Given the description of an element on the screen output the (x, y) to click on. 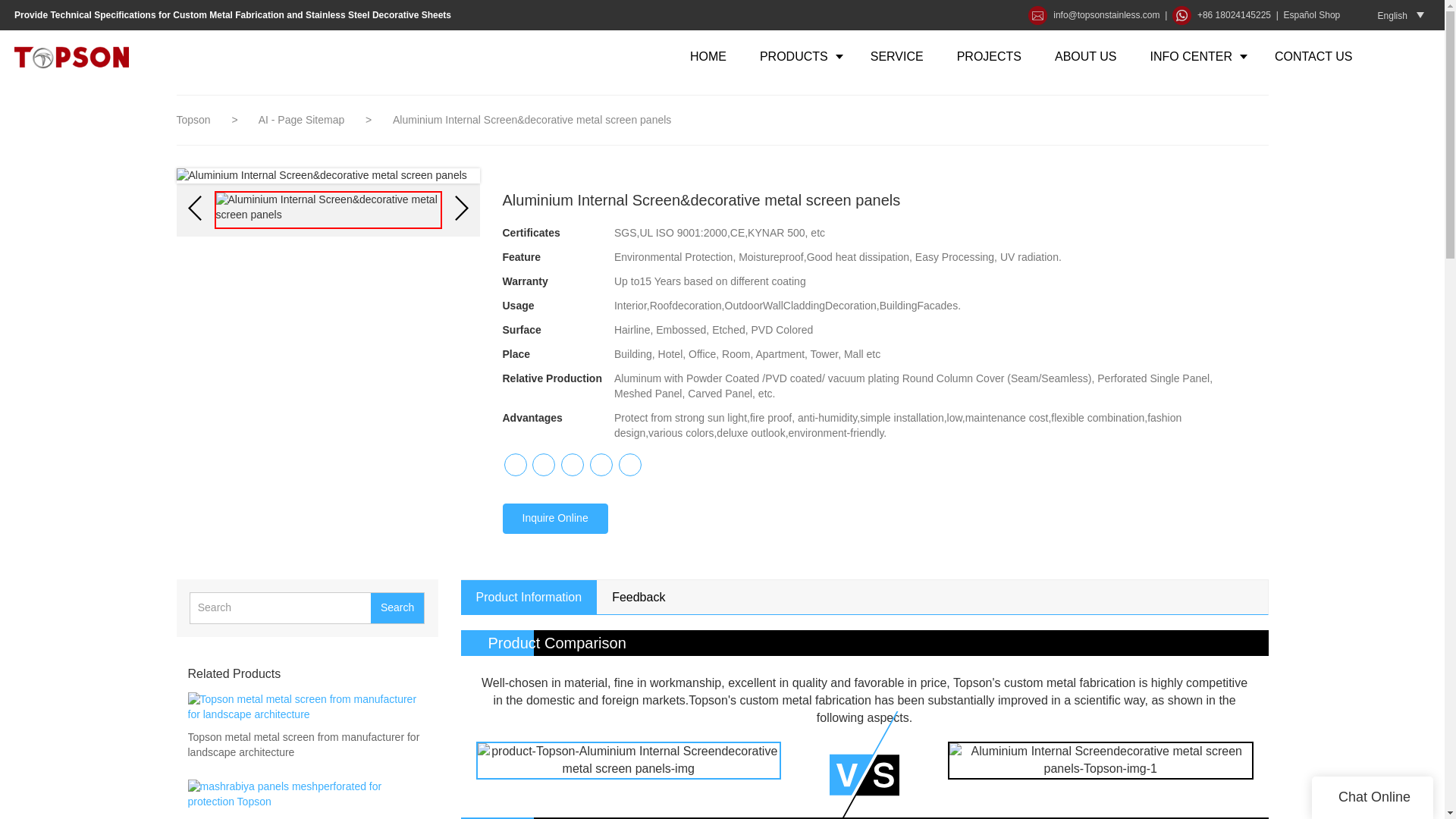
INFO CENTER (1195, 56)
PROJECTS (989, 56)
AI - Page Sitemap (303, 119)
PRODUCTS (797, 56)
CONTACT US (1313, 56)
Topson (192, 119)
HOME (707, 56)
SERVICE (896, 56)
